Given the description of an element on the screen output the (x, y) to click on. 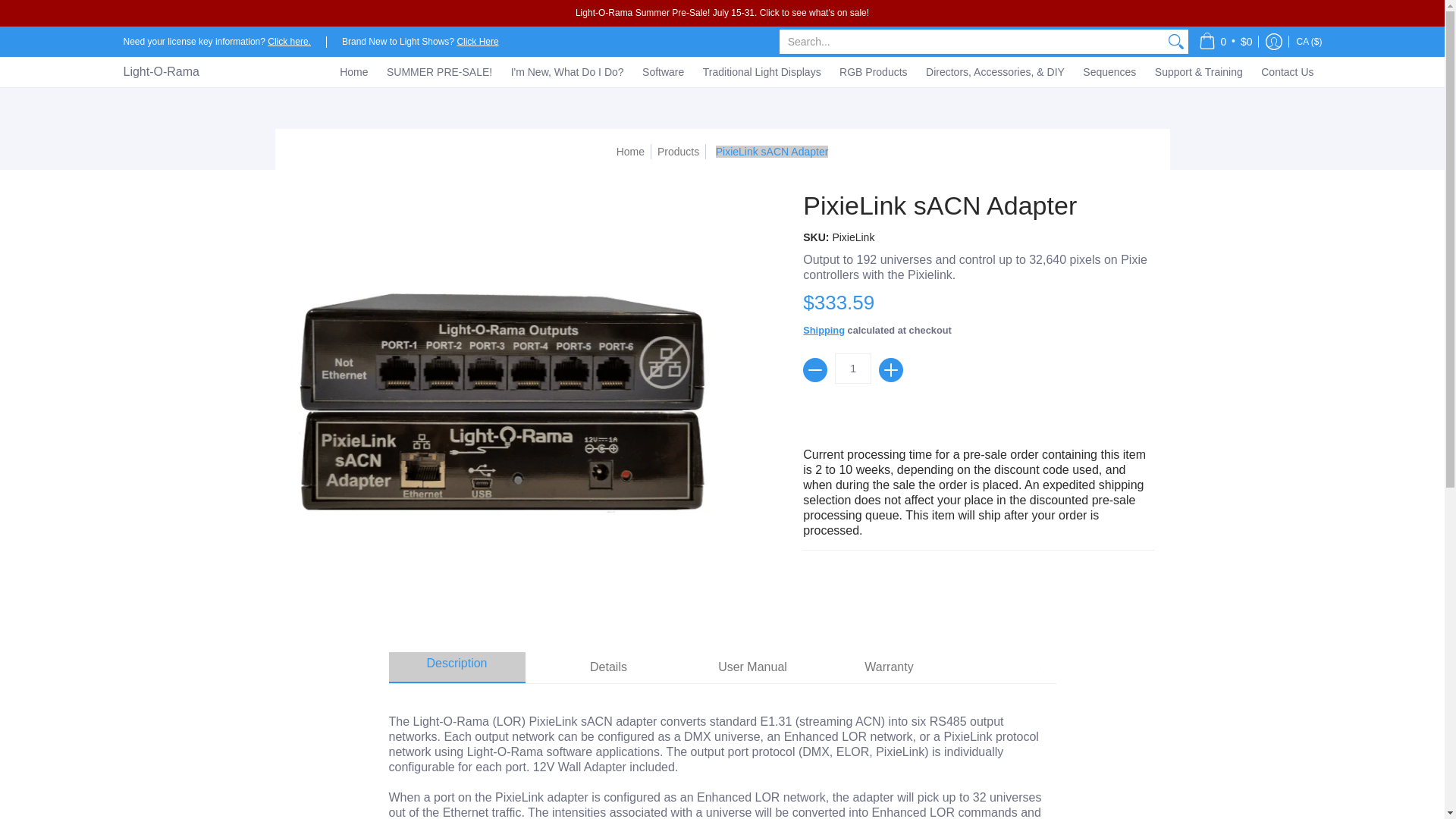
1 (852, 368)
Update store currency (1307, 41)
Click Here (477, 40)
Which Starter Package Should I Buy? (477, 41)
Cart (1225, 41)
Click here. (289, 41)
Log in (1273, 41)
